Given the description of an element on the screen output the (x, y) to click on. 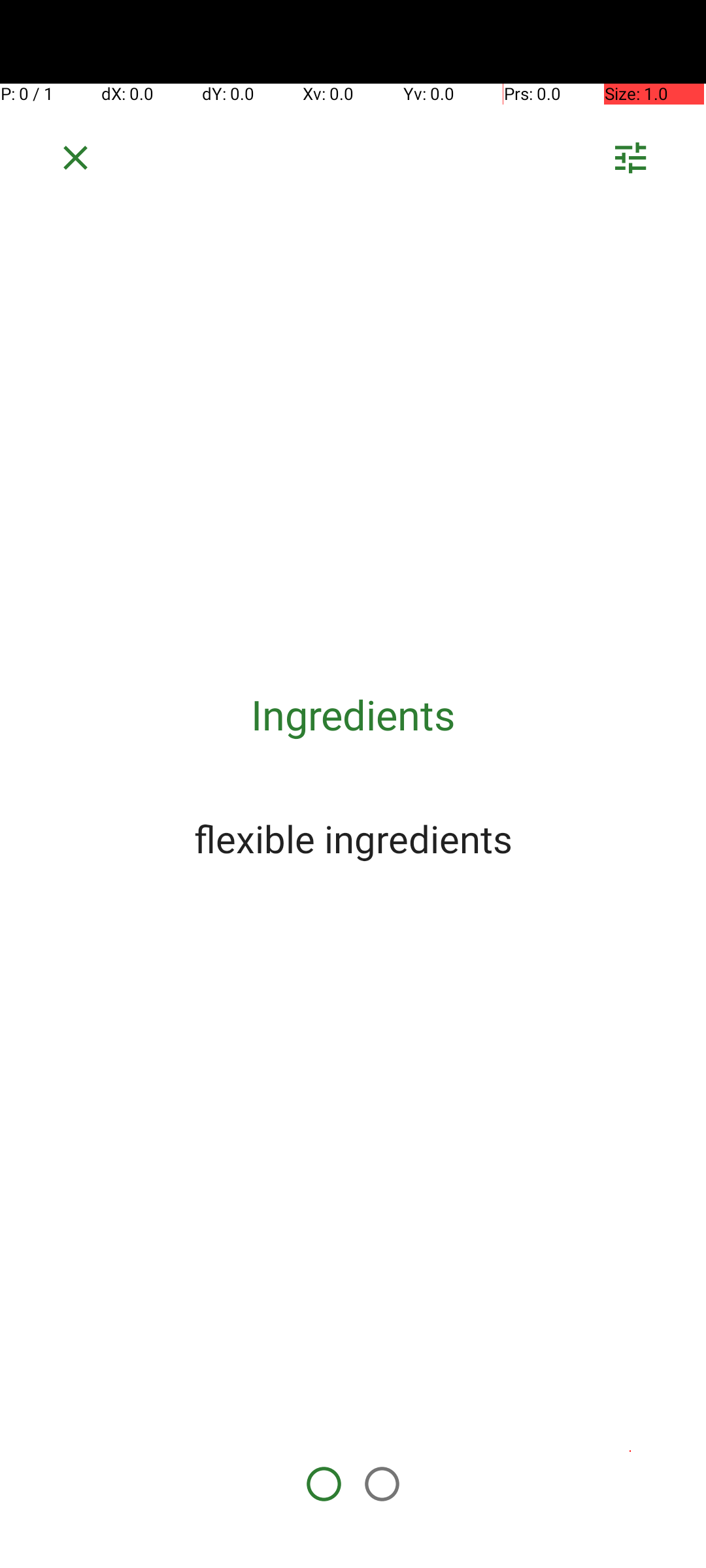
flexible ingredients Element type: android.widget.TextView (352, 838)
